Given the description of an element on the screen output the (x, y) to click on. 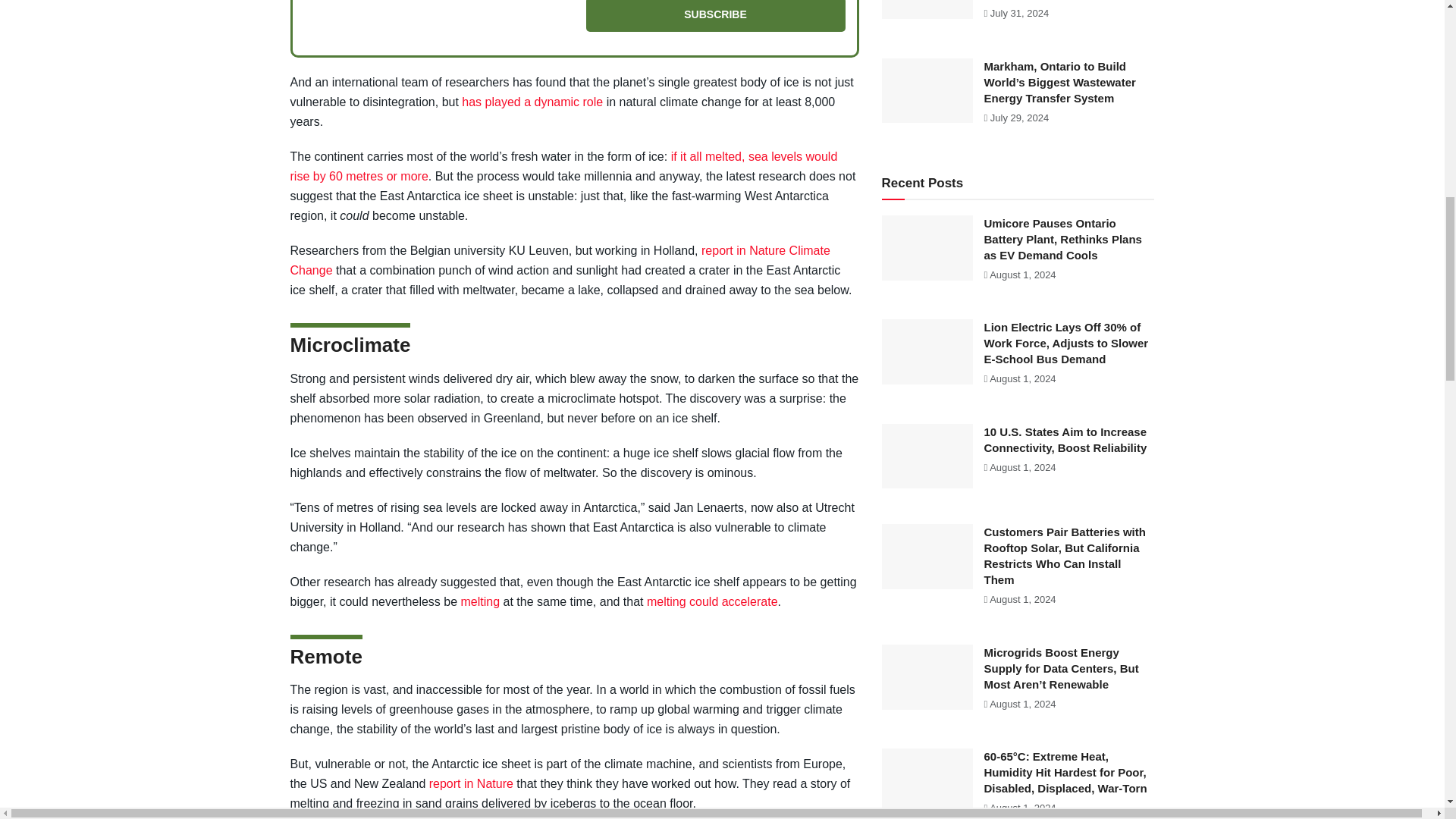
SUBSCRIBE (714, 15)
Subscribe (714, 15)
